Given the description of an element on the screen output the (x, y) to click on. 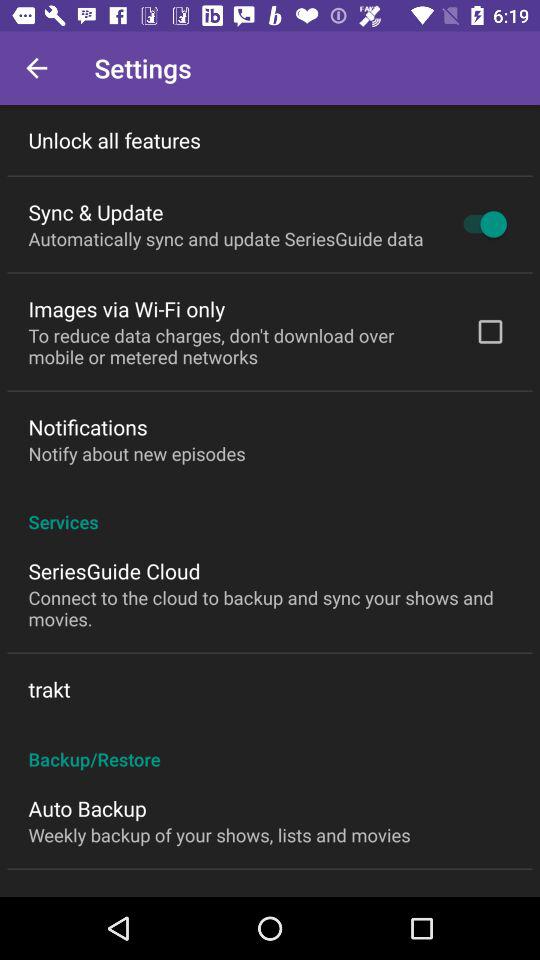
press the item at the top right corner (480, 224)
